Given the description of an element on the screen output the (x, y) to click on. 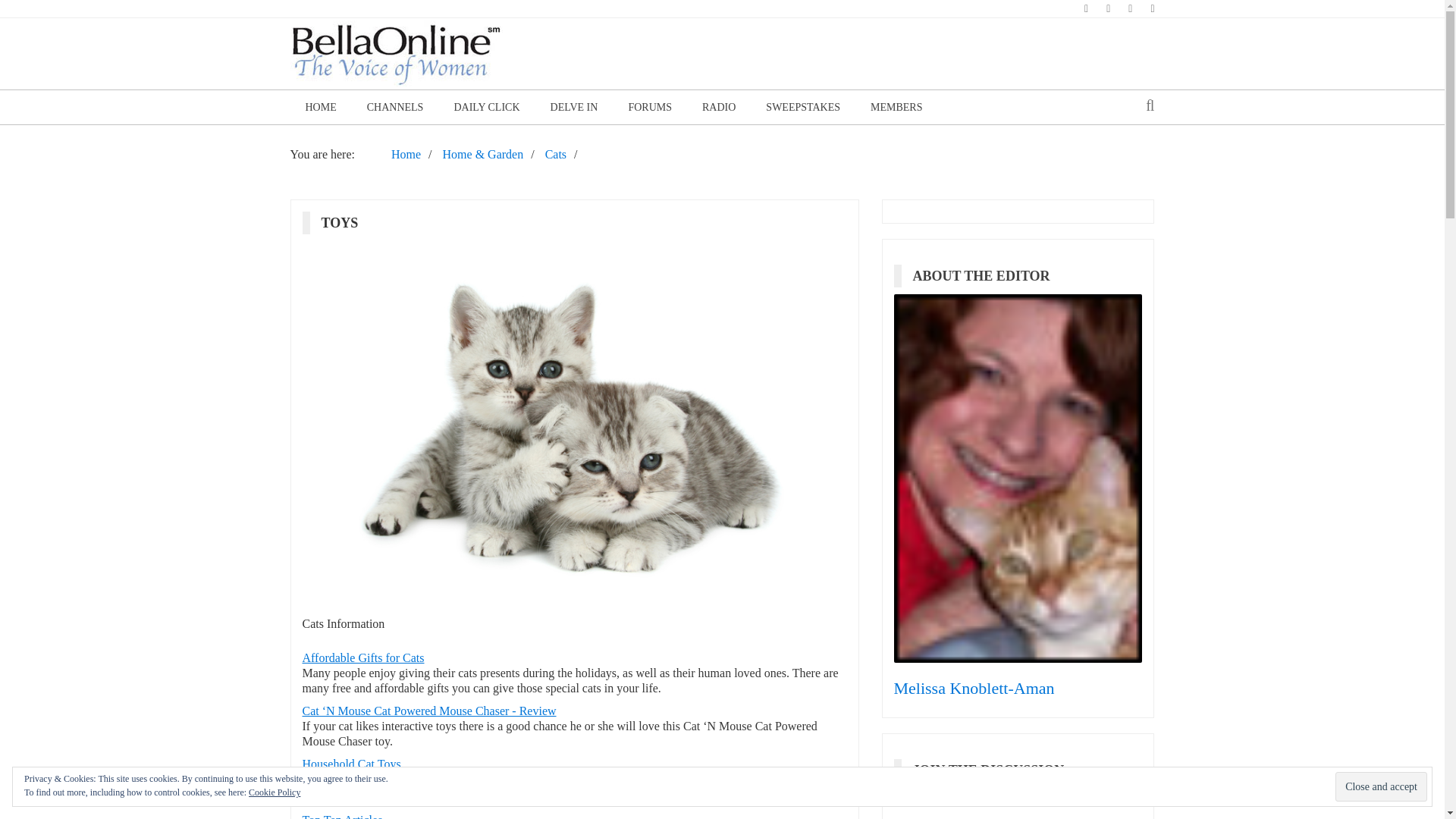
RADIO (719, 107)
SWEEPSTAKES (803, 107)
HOME (319, 107)
FORUMS (649, 107)
Close and accept (1380, 786)
DAILY CLICK (486, 107)
DELVE IN (573, 107)
CHANNELS (395, 107)
